Given the description of an element on the screen output the (x, y) to click on. 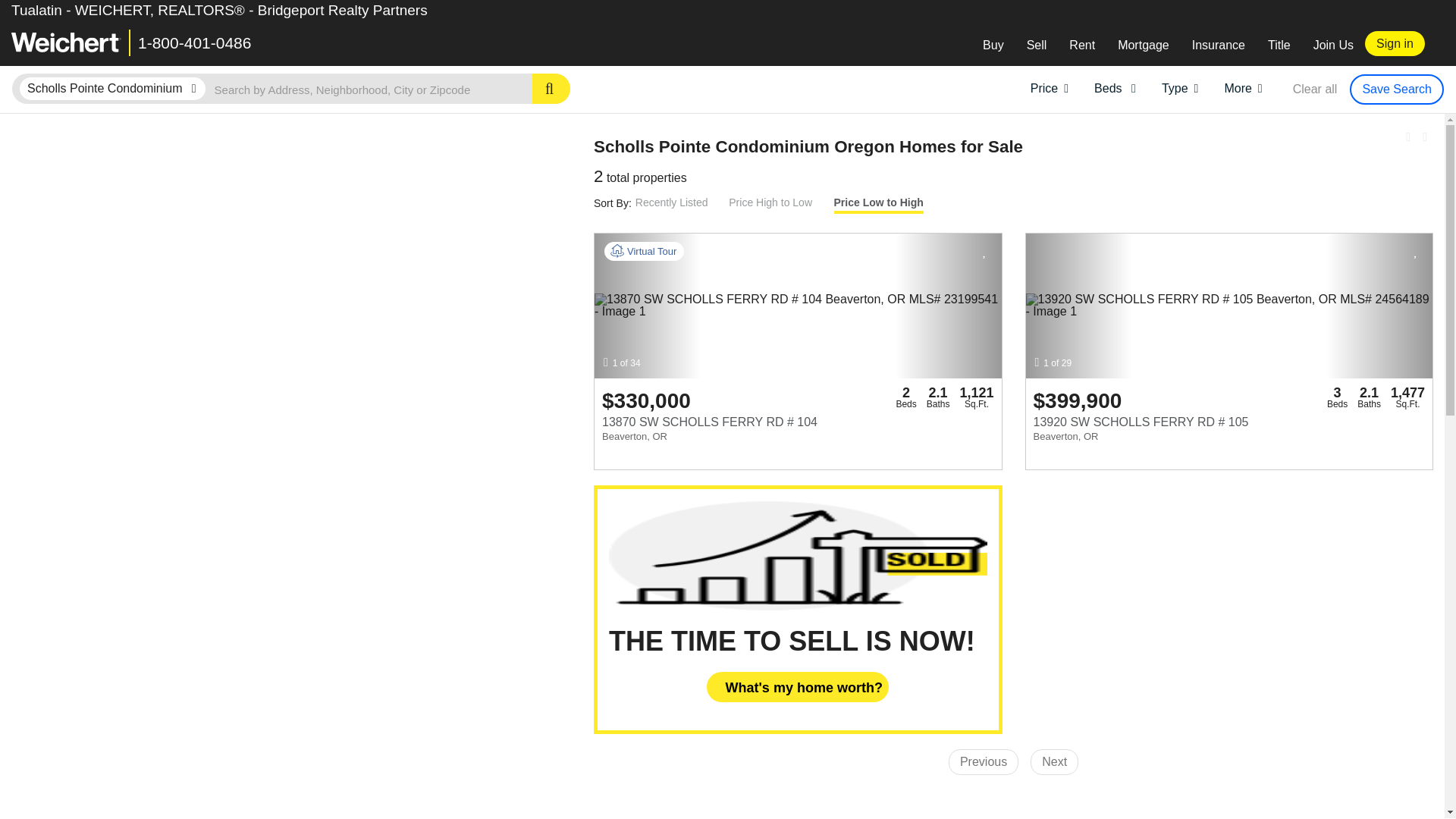
Insurance (1218, 45)
Sign in (1395, 43)
Buy (992, 45)
Beds (1115, 86)
Mortgage (1143, 45)
1-800-401-0486 (194, 42)
Sell (1036, 45)
Rent (1082, 45)
Title (1278, 45)
